Given the description of an element on the screen output the (x, y) to click on. 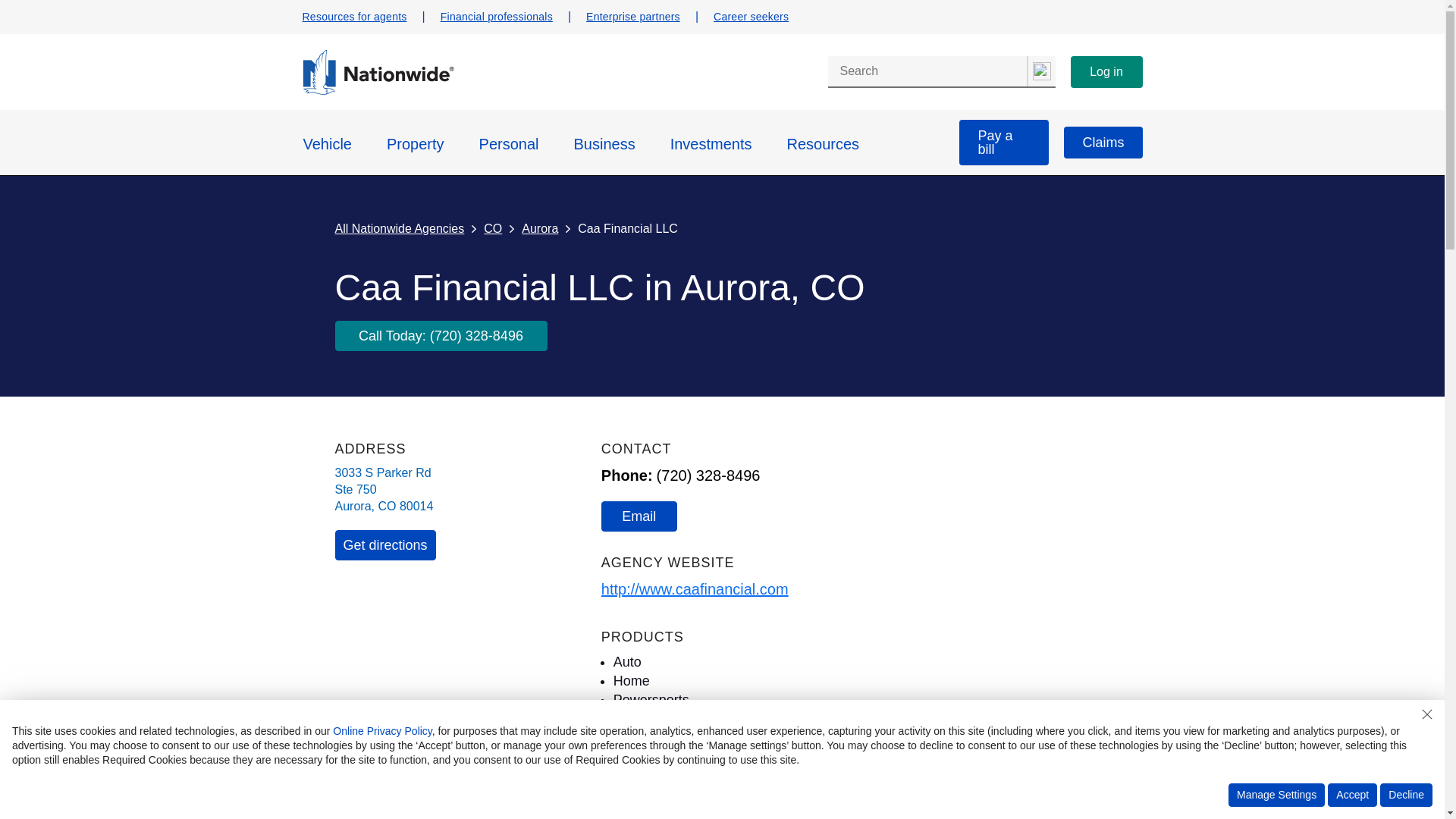
Pay a bill (1003, 142)
Submit (1040, 71)
Claims (1102, 142)
Career seekers (751, 17)
Log in (1105, 71)
Link to Nationwide main website (376, 90)
Resources for agents (353, 17)
Financial professionals (497, 17)
Colorado (386, 505)
Enterprise partners (632, 17)
